Given the description of an element on the screen output the (x, y) to click on. 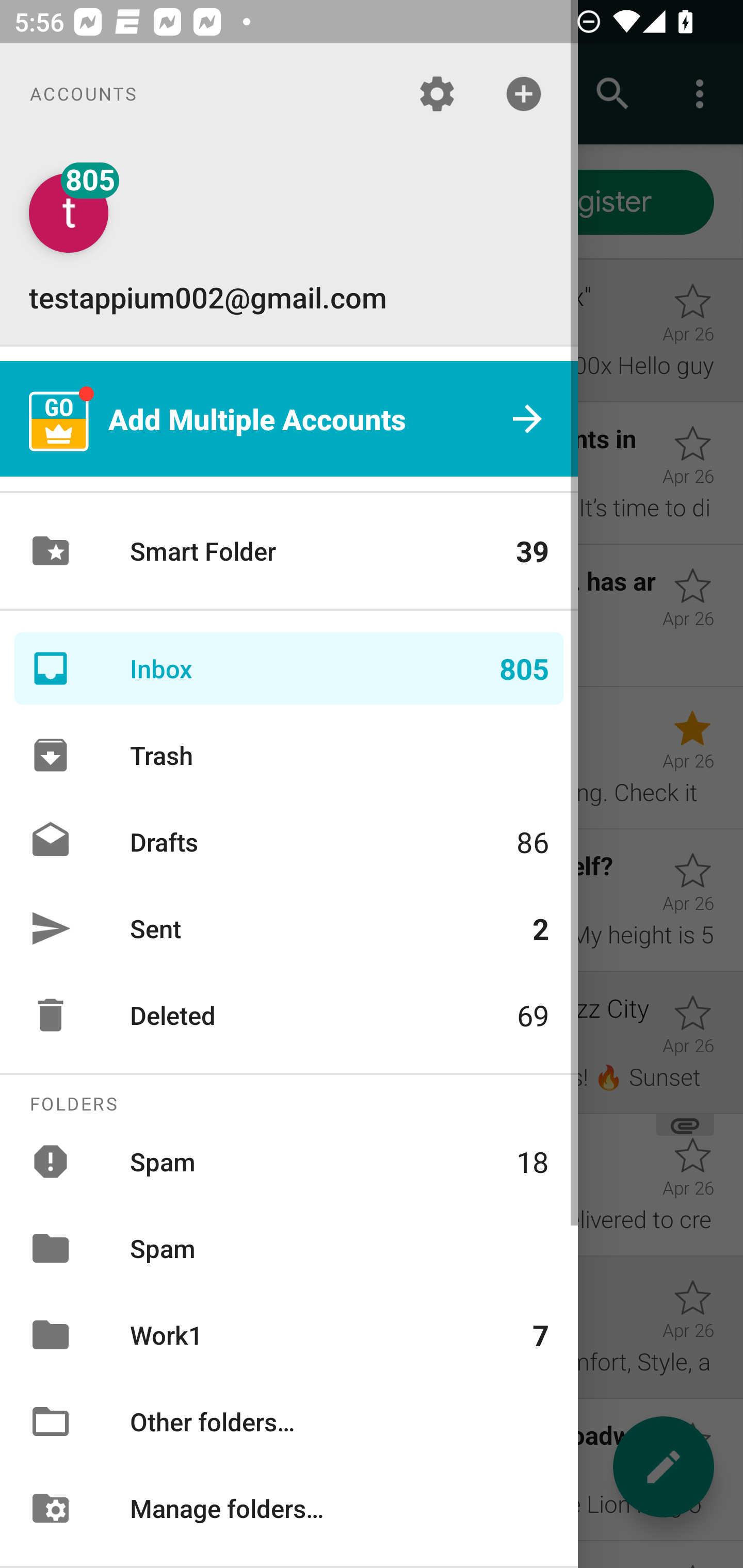
testappium002@gmail.com (289, 244)
Add Multiple Accounts (289, 418)
Smart Folder 39 (289, 551)
Inbox 805 (289, 668)
Trash (289, 754)
Drafts 86 (289, 841)
Sent 2 (289, 928)
Deleted 69 (289, 1015)
Spam 18 (289, 1160)
Spam (289, 1248)
Work1 7 (289, 1335)
Other folders… (289, 1421)
Manage folders… (289, 1507)
